Given the description of an element on the screen output the (x, y) to click on. 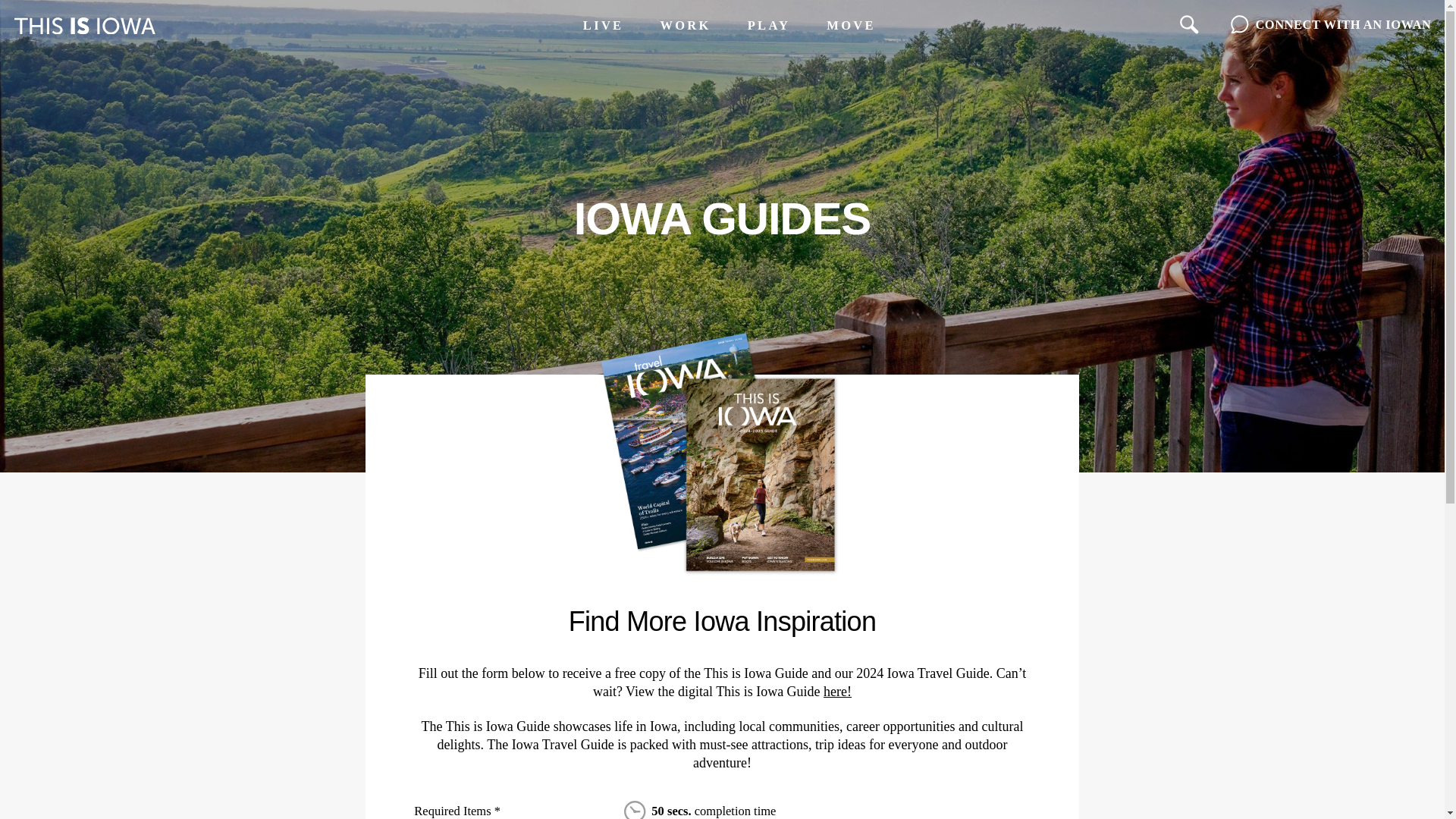
WORK (685, 25)
PLAY (769, 25)
MOVE (850, 25)
here! (837, 691)
LIVE (603, 25)
